Given the description of an element on the screen output the (x, y) to click on. 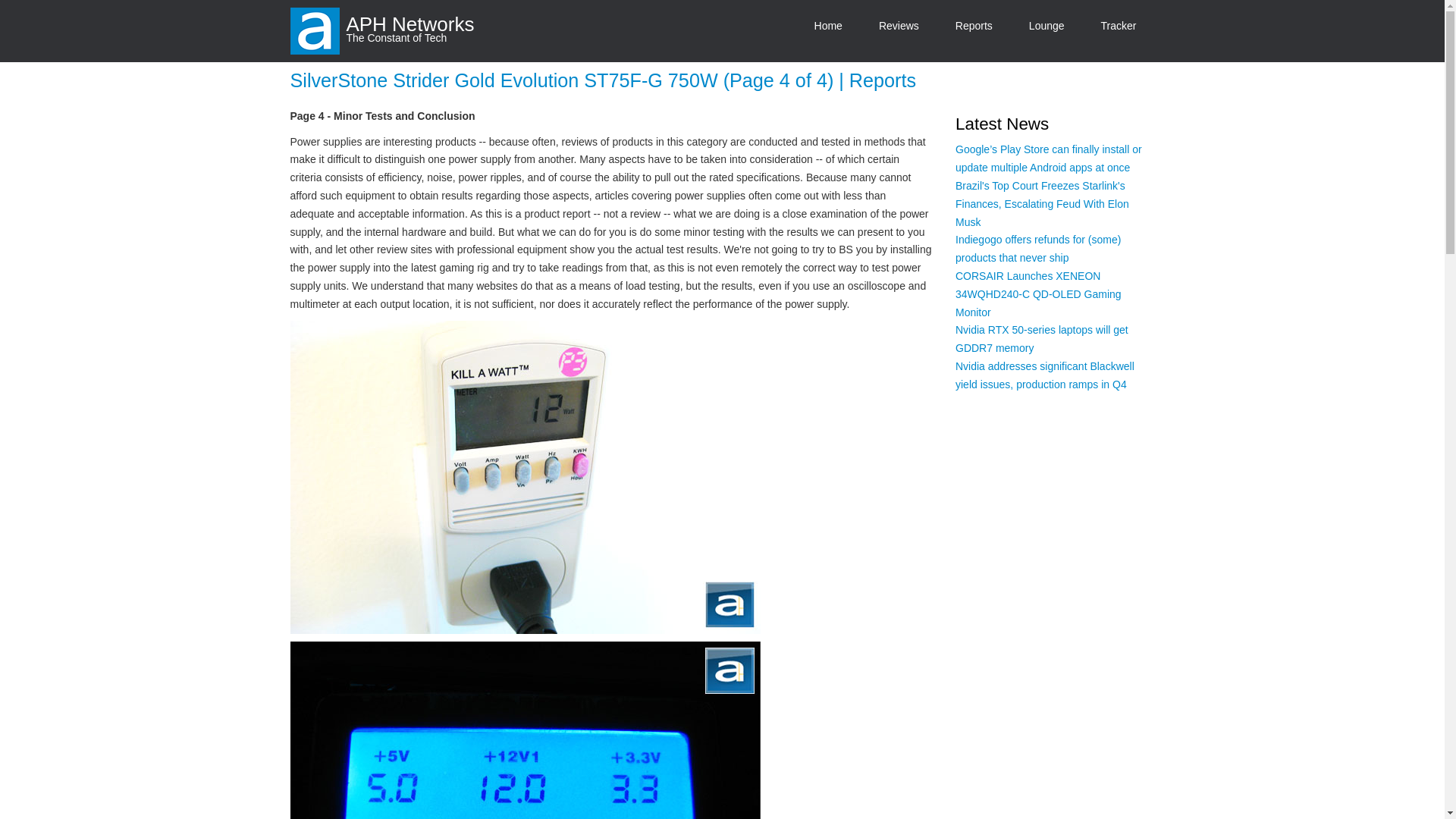
APH Networks (410, 24)
Reviews of technology equipment (898, 26)
Nvidia RTX 50-series laptops will get GDDR7 memory (1041, 338)
CORSAIR Launches XENEON 34WQHD240-C QD-OLED Gaming Monitor (1038, 294)
Home (314, 30)
Tracker (1118, 26)
Lounge (1046, 26)
Reports of technology and related content (973, 26)
